Given the description of an element on the screen output the (x, y) to click on. 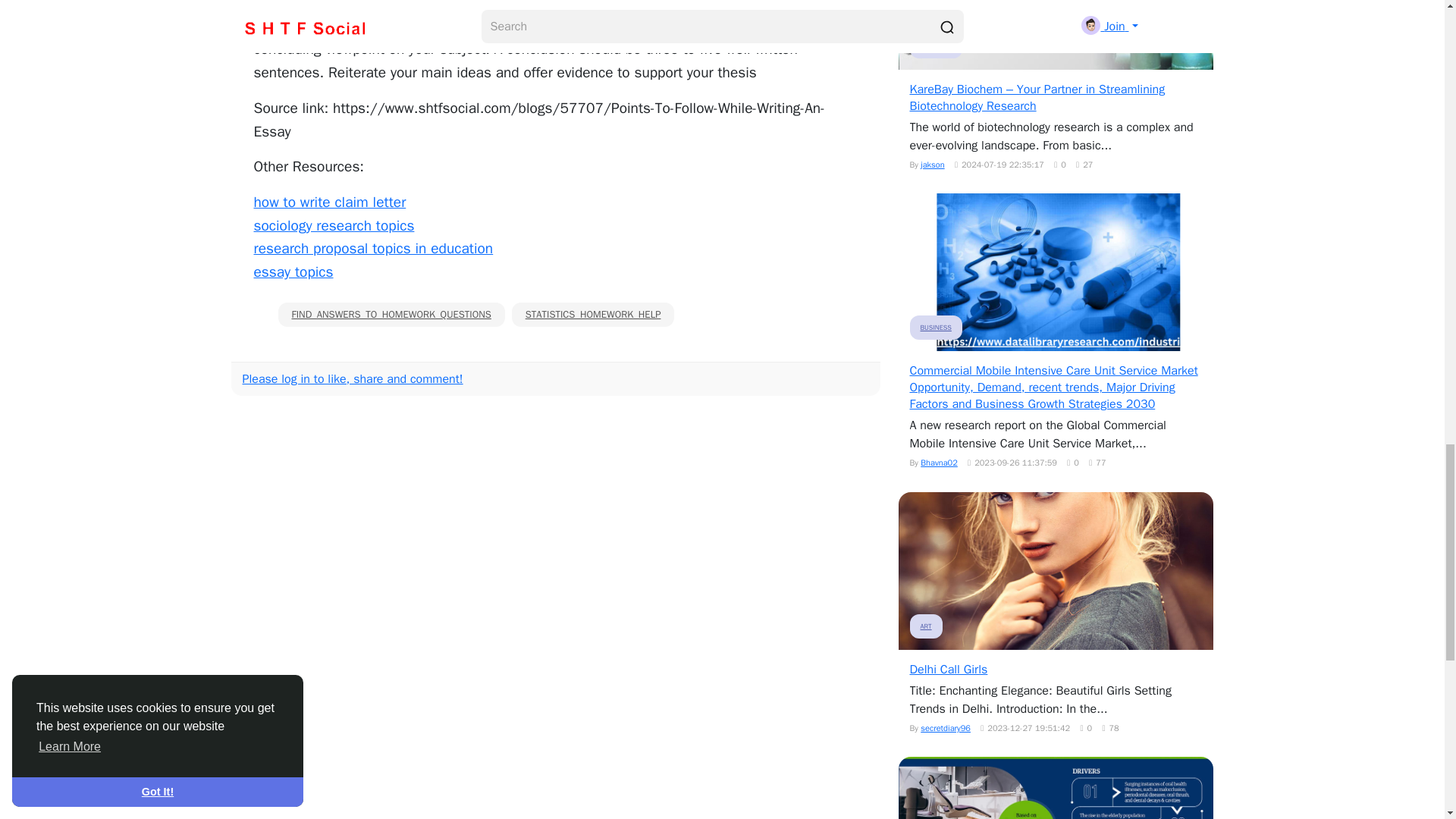
essay topics (293, 271)
research proposal topics in education (373, 248)
sociology research topics (333, 226)
how to write claim letter (329, 202)
Please log in to like, share and comment! (353, 378)
